Given the description of an element on the screen output the (x, y) to click on. 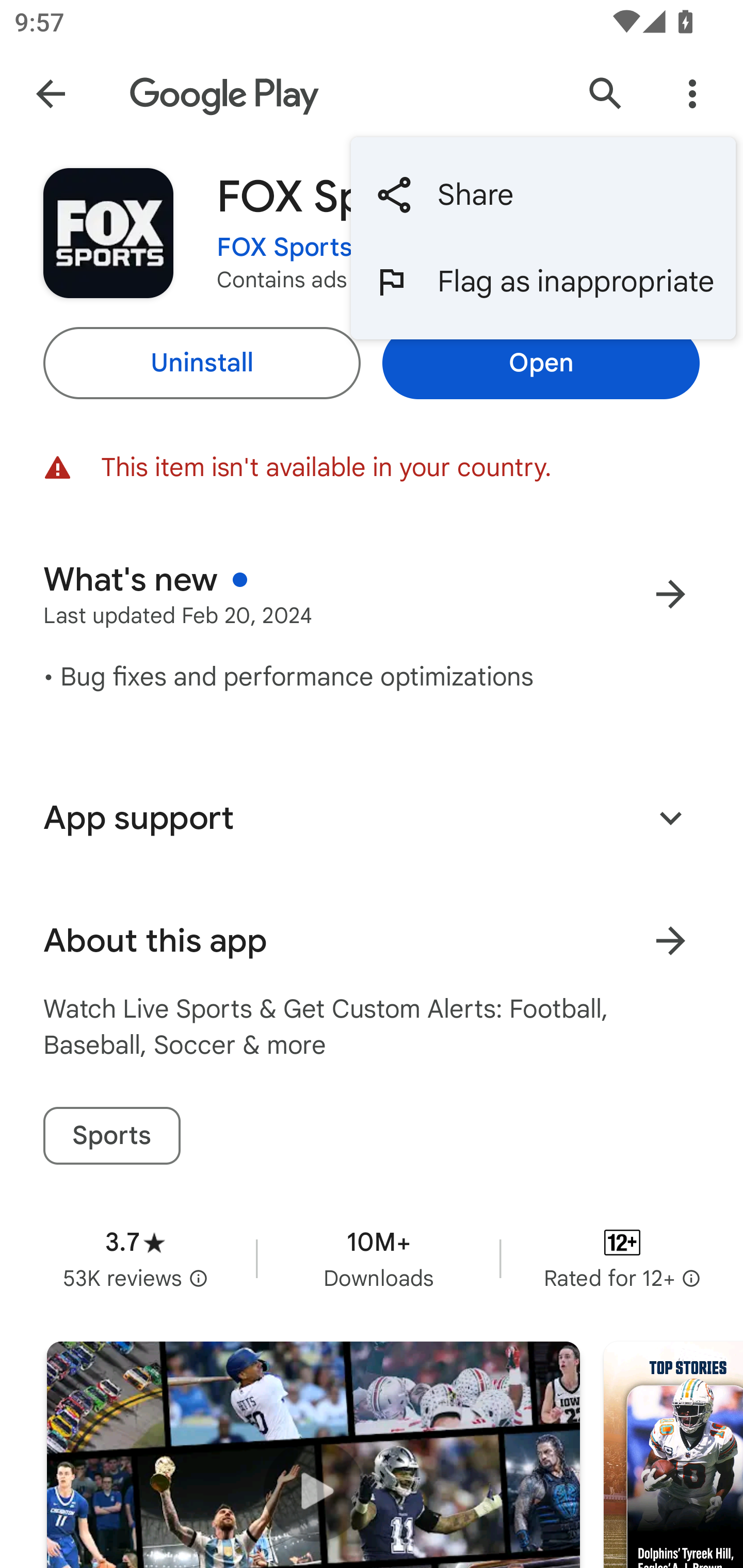
Share (542, 195)
Flag as inappropriate (542, 281)
